Given the description of an element on the screen output the (x, y) to click on. 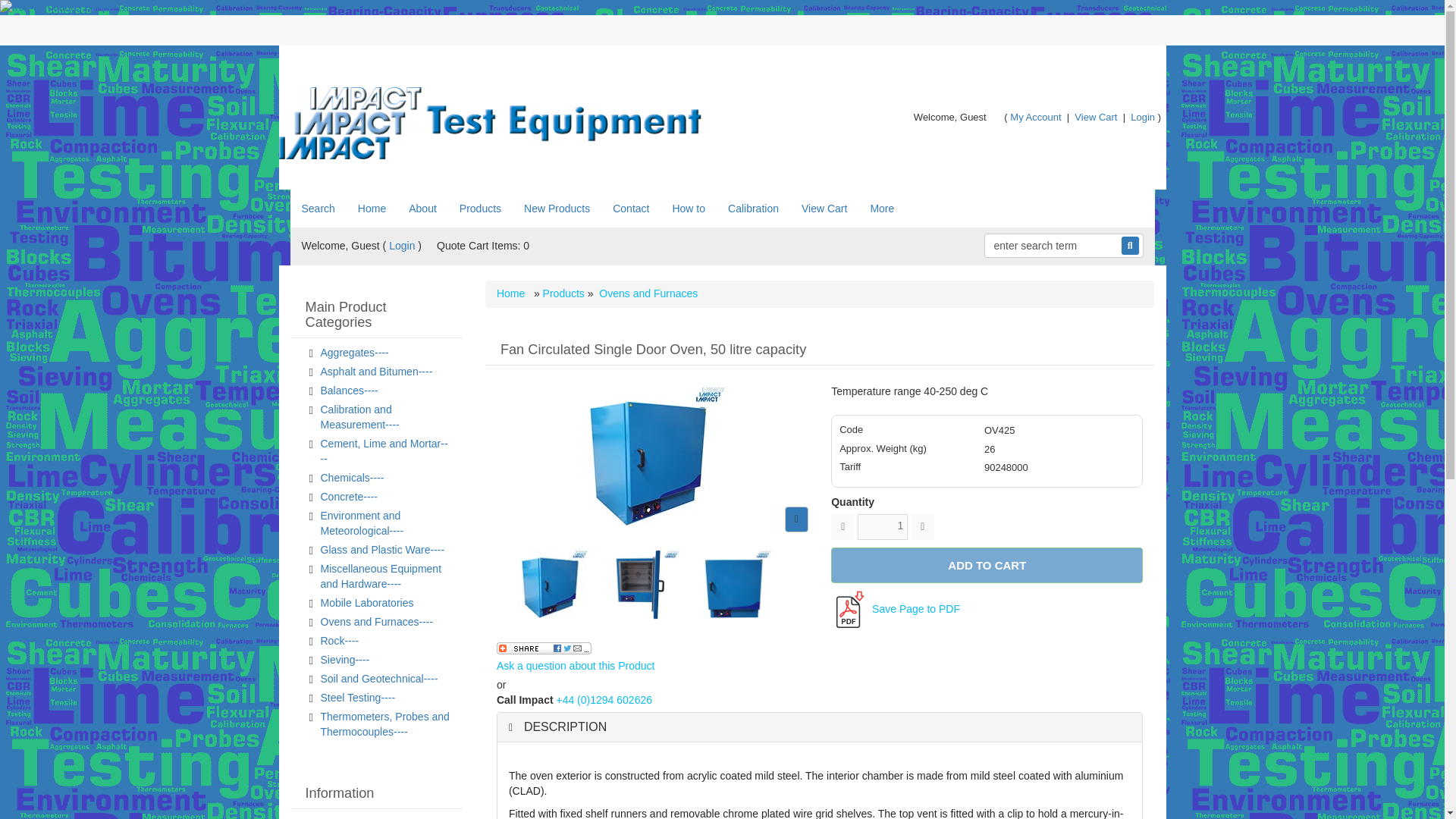
www.impact-test.co.uk (494, 122)
1 (882, 526)
enter search term (1054, 245)
enter search term (1054, 245)
